Given the description of an element on the screen output the (x, y) to click on. 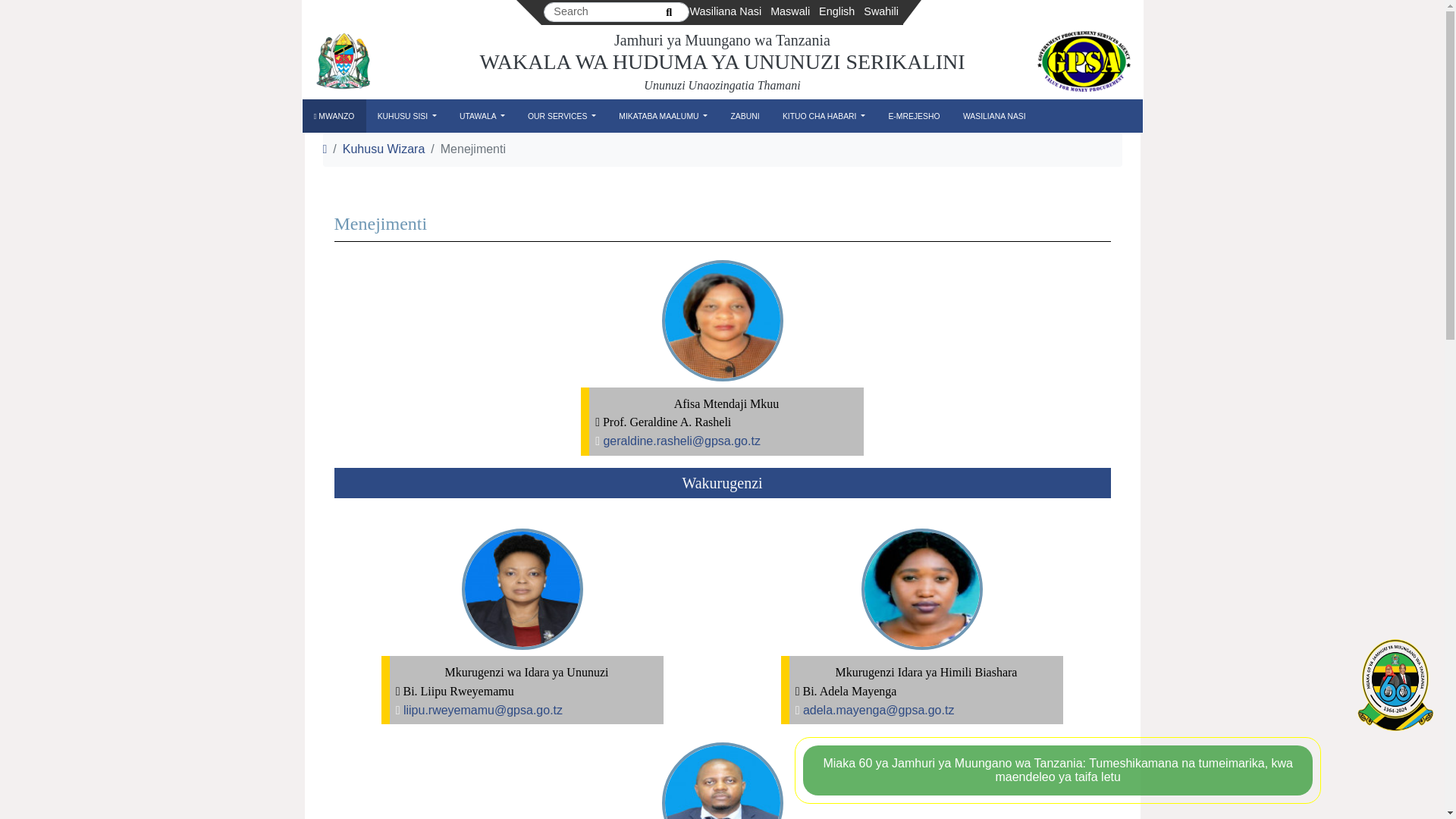
OUR SERVICES (561, 116)
ZABUNI (744, 116)
KUHUSU SISI (406, 116)
UTAWALA (481, 116)
WASILIANA NASI (994, 116)
English (836, 11)
Swahili (880, 11)
KITUO CHA HABARI (823, 116)
E-MREJESHO (913, 116)
MIKATABA MAALUMU (662, 116)
Maswali (789, 11)
Wasiliana Nasi (724, 11)
